Given the description of an element on the screen output the (x, y) to click on. 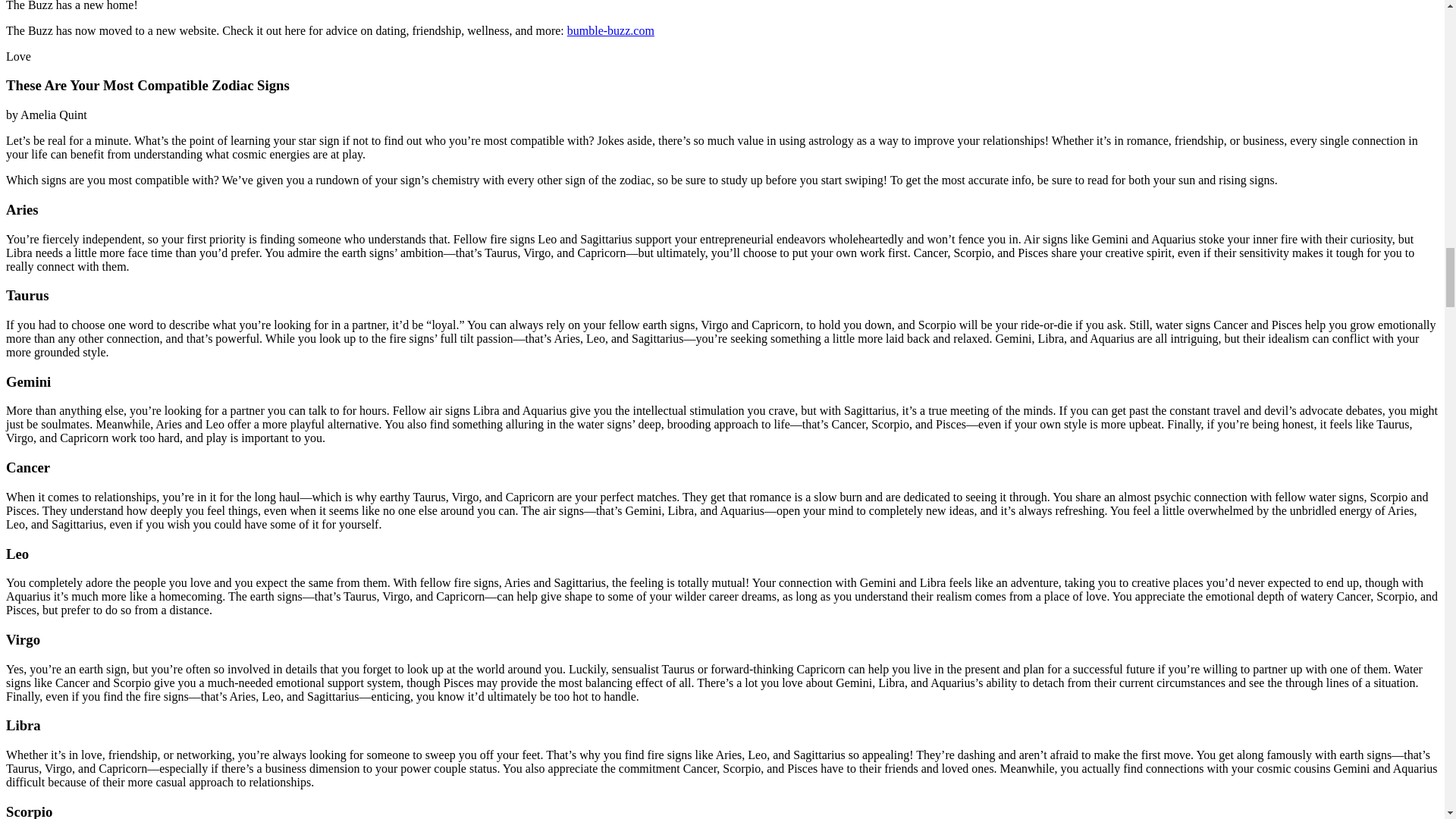
bumble-buzz.com (610, 30)
